Given the description of an element on the screen output the (x, y) to click on. 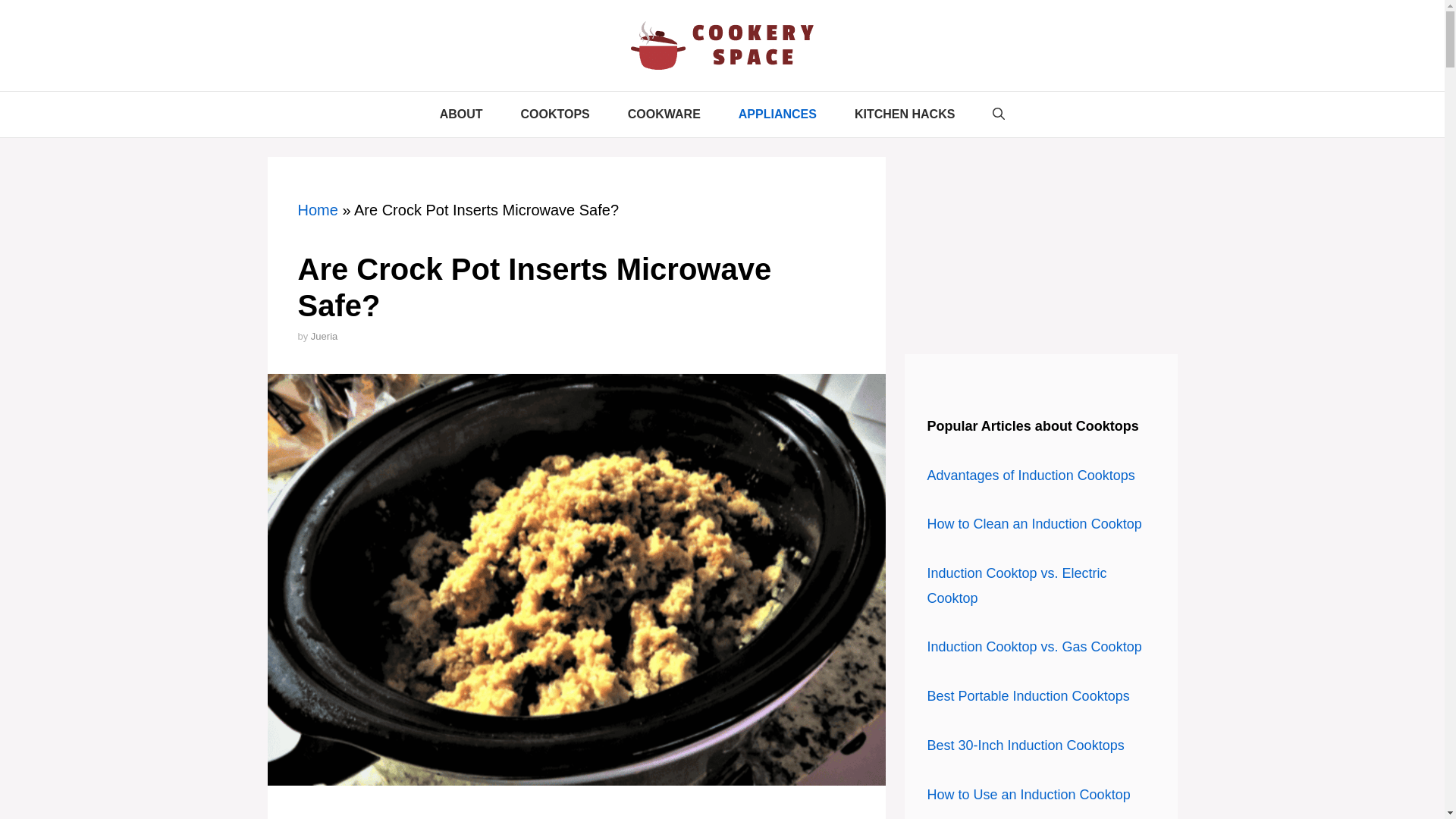
KITCHEN HACKS (904, 114)
Jueria (324, 336)
COOKTOPS (555, 114)
APPLIANCES (777, 114)
Home (317, 209)
ABOUT (461, 114)
COOKWARE (663, 114)
View all posts by Jueria (324, 336)
